Given the description of an element on the screen output the (x, y) to click on. 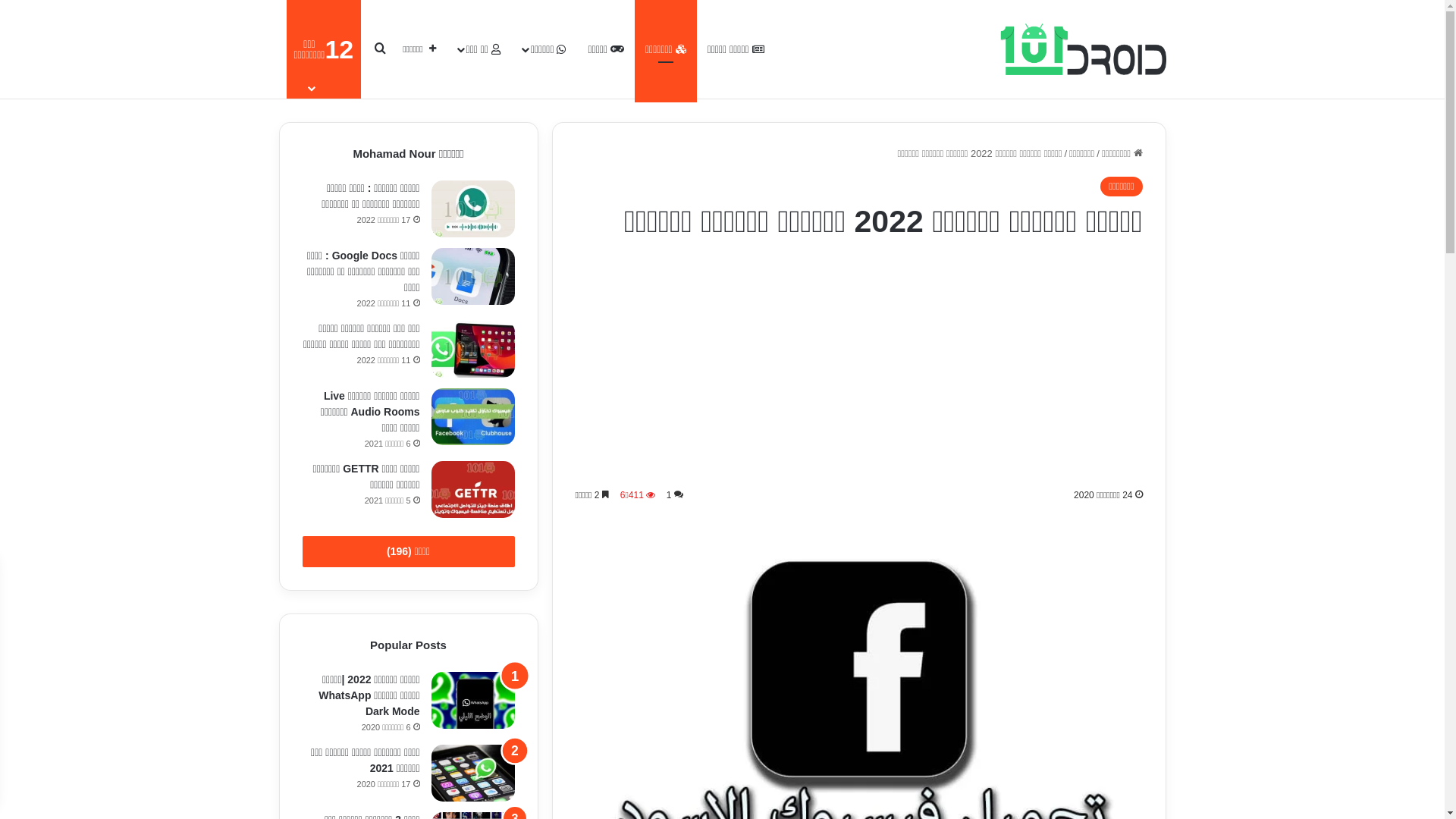
Advertisement Element type: hover (858, 364)
